Given the description of an element on the screen output the (x, y) to click on. 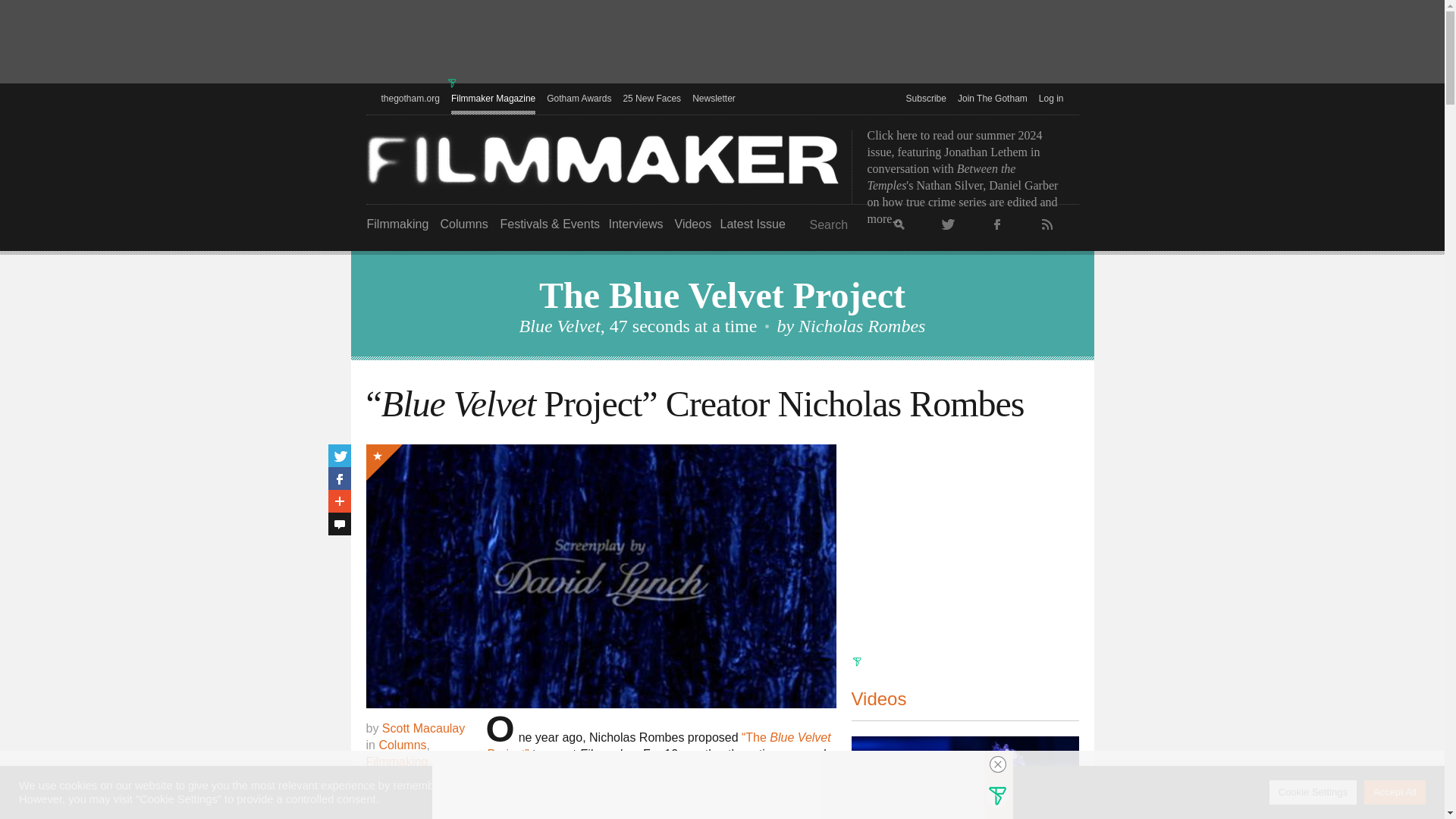
Posts by Scott Macaulay (422, 728)
Columns (463, 223)
Filmmaking (397, 223)
3rd party ad content (721, 43)
Filmmaker (602, 159)
3rd party ad content (964, 538)
